Given the description of an element on the screen output the (x, y) to click on. 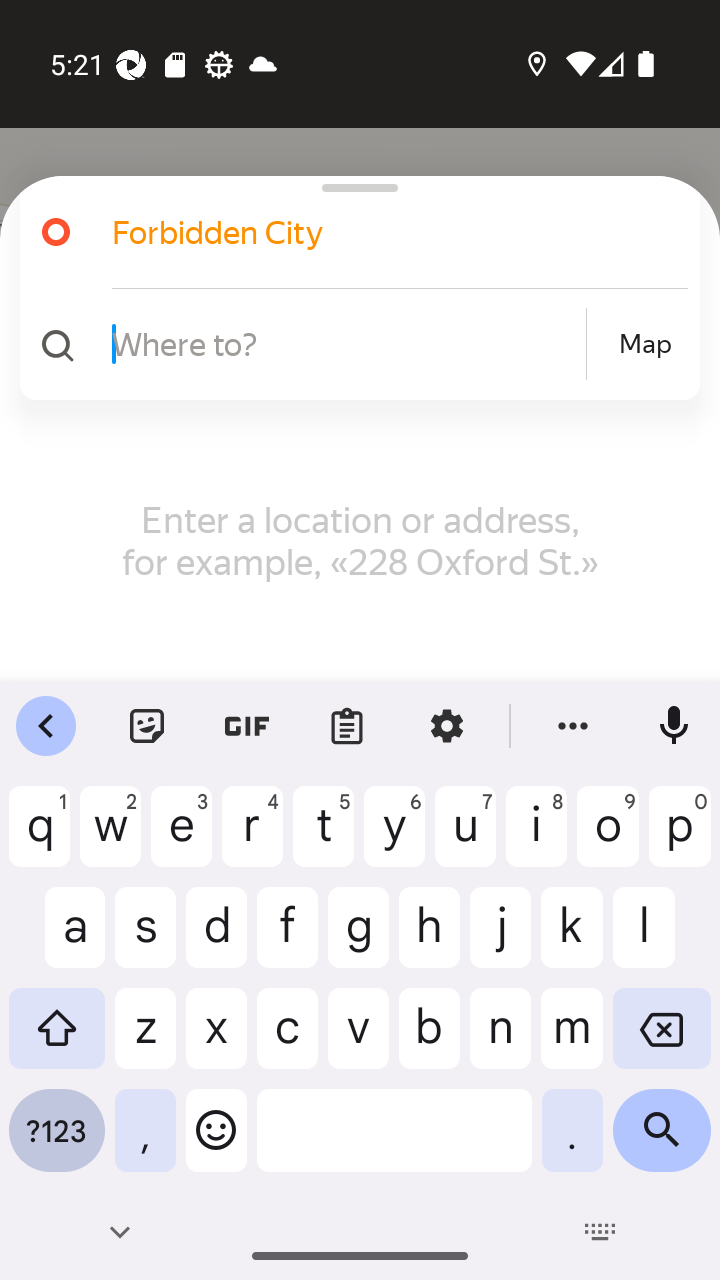
Forbidden City (352, 232)
Forbidden City (373, 232)
Where to? Map Map (352, 343)
Map (645, 343)
Where to? (346, 343)
